Given the description of an element on the screen output the (x, y) to click on. 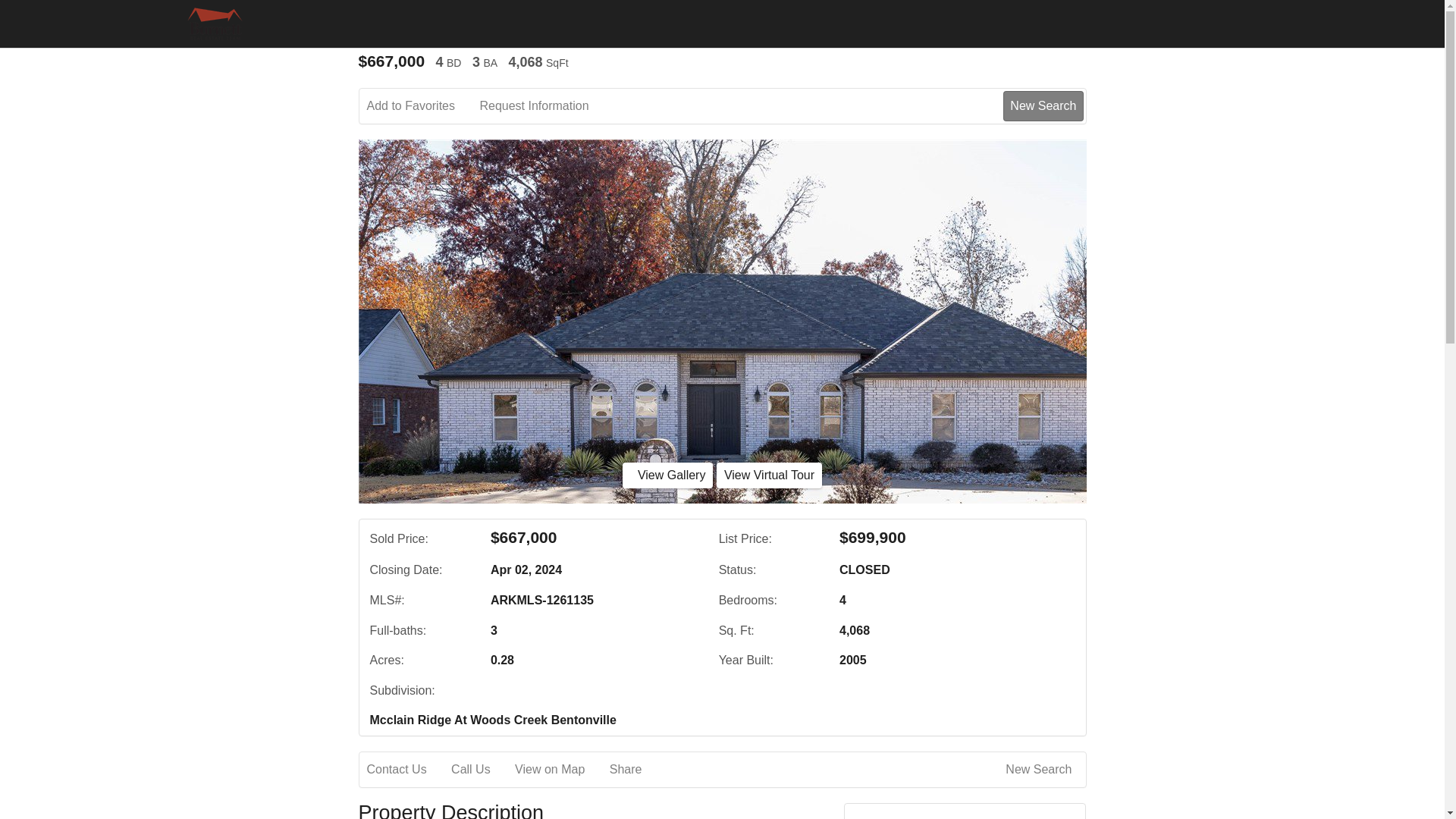
Call Us (481, 769)
Add to Favorites (421, 106)
View Virtual Tour (769, 475)
View Gallery (668, 475)
View on Map (560, 769)
View Virtual Tour (769, 474)
Request Information (544, 106)
View Gallery (668, 474)
New Search (1043, 105)
New Search (1041, 769)
Share (636, 769)
Contact Us (407, 769)
